Given the description of an element on the screen output the (x, y) to click on. 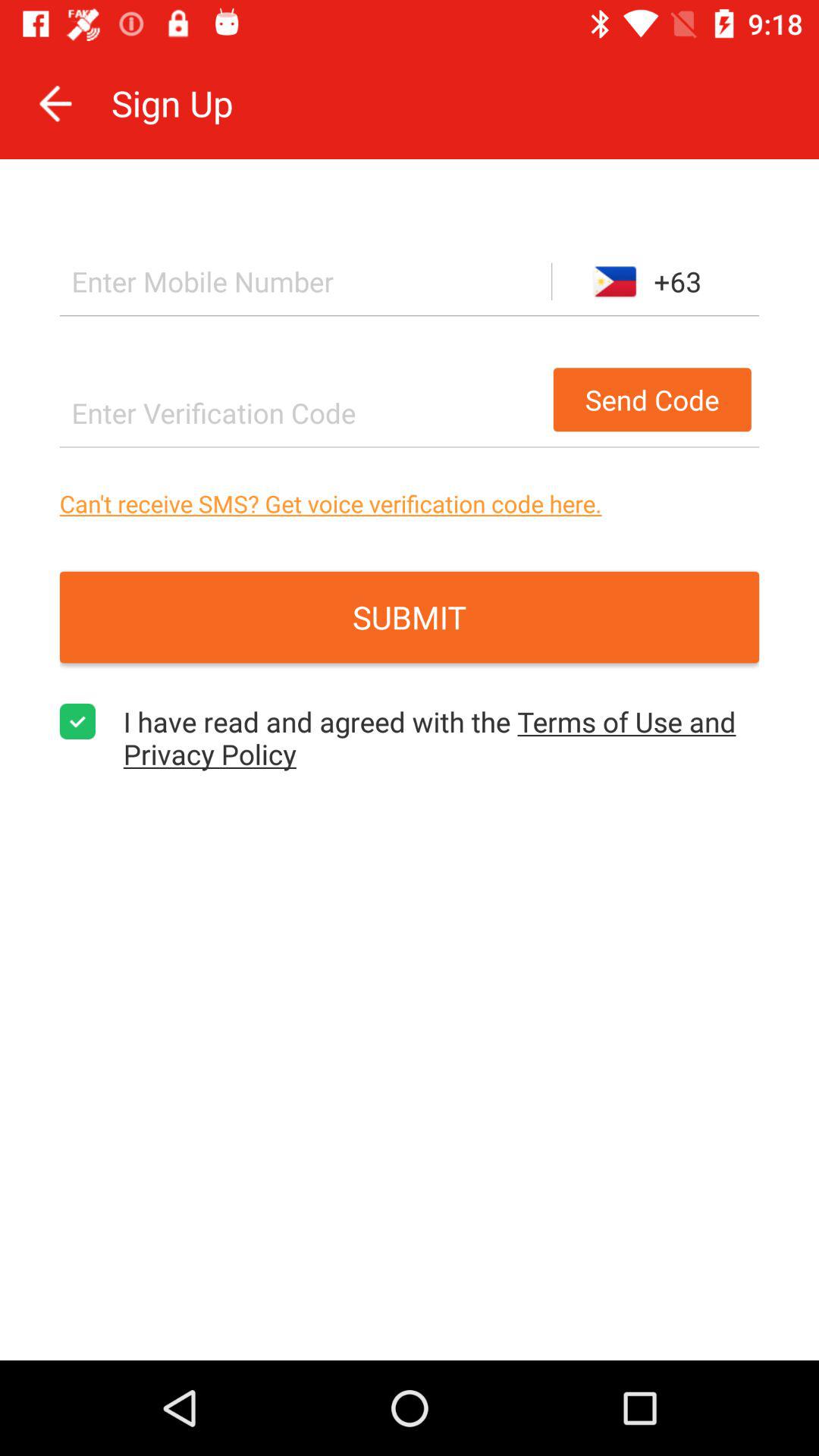
agreement to the terms checkbox (77, 721)
